Given the description of an element on the screen output the (x, y) to click on. 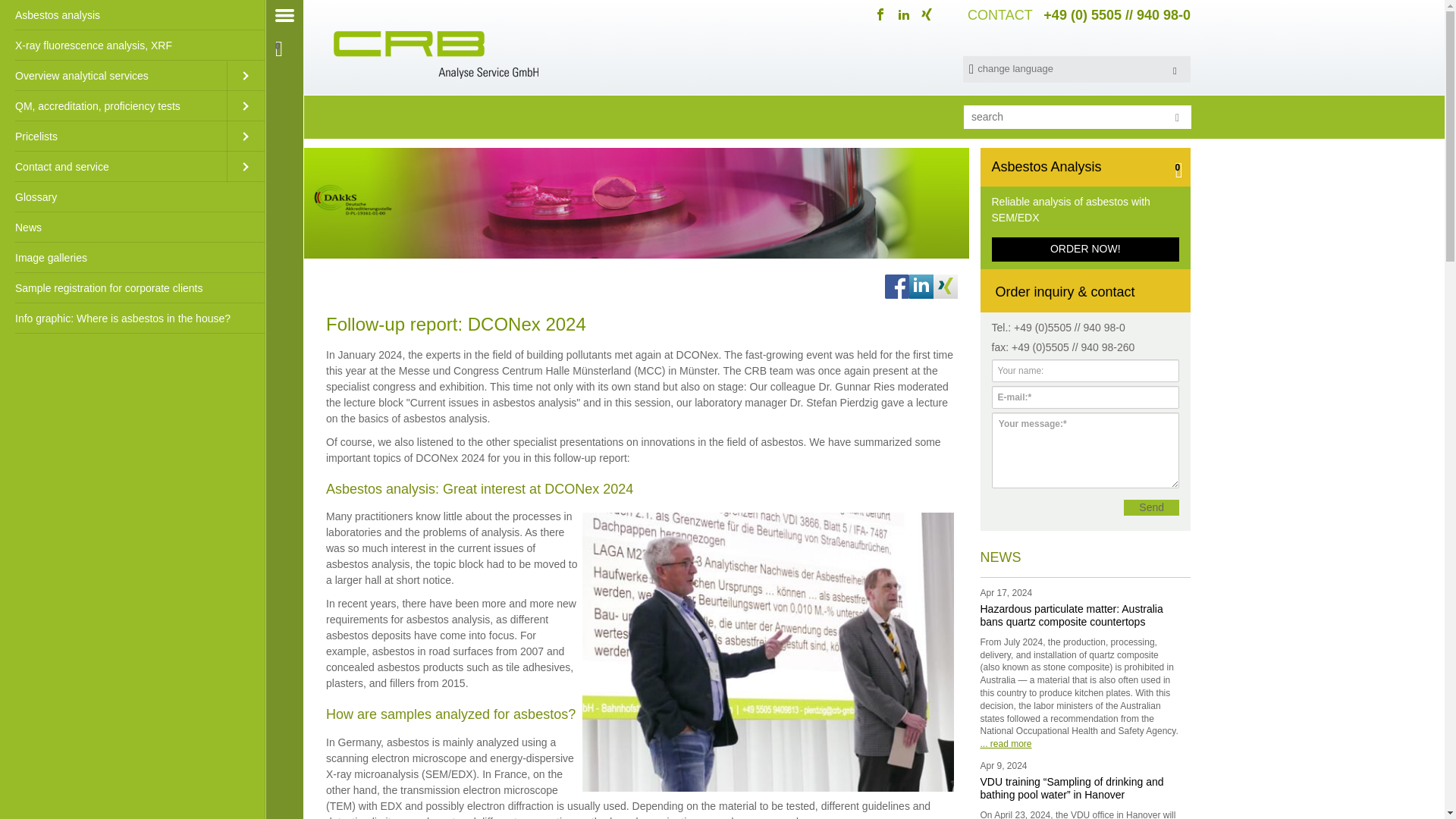
Asbestos analysis (132, 15)
Contact and service (113, 166)
Overview analytical services (113, 75)
Pricelists (113, 136)
X-ray fluorescence analysis, XRF (132, 45)
Overview analytical services (113, 75)
QM, accreditation, proficiency tests (113, 105)
QM, accreditation, proficiency tests (113, 105)
